Given the description of an element on the screen output the (x, y) to click on. 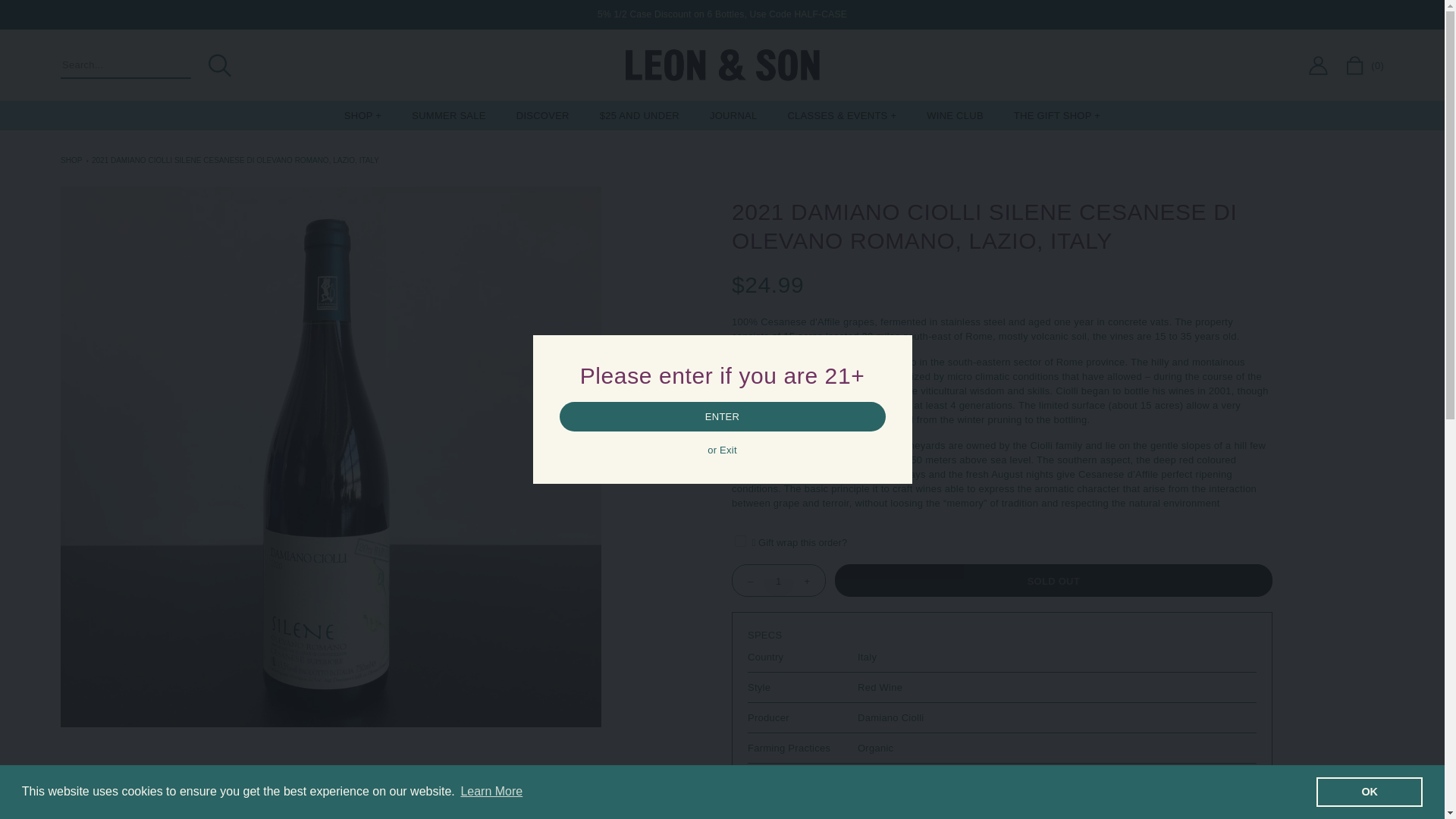
1 (777, 581)
Learn More (491, 791)
SHOP (362, 115)
47533554237739 (740, 541)
OK (1369, 791)
